Given the description of an element on the screen output the (x, y) to click on. 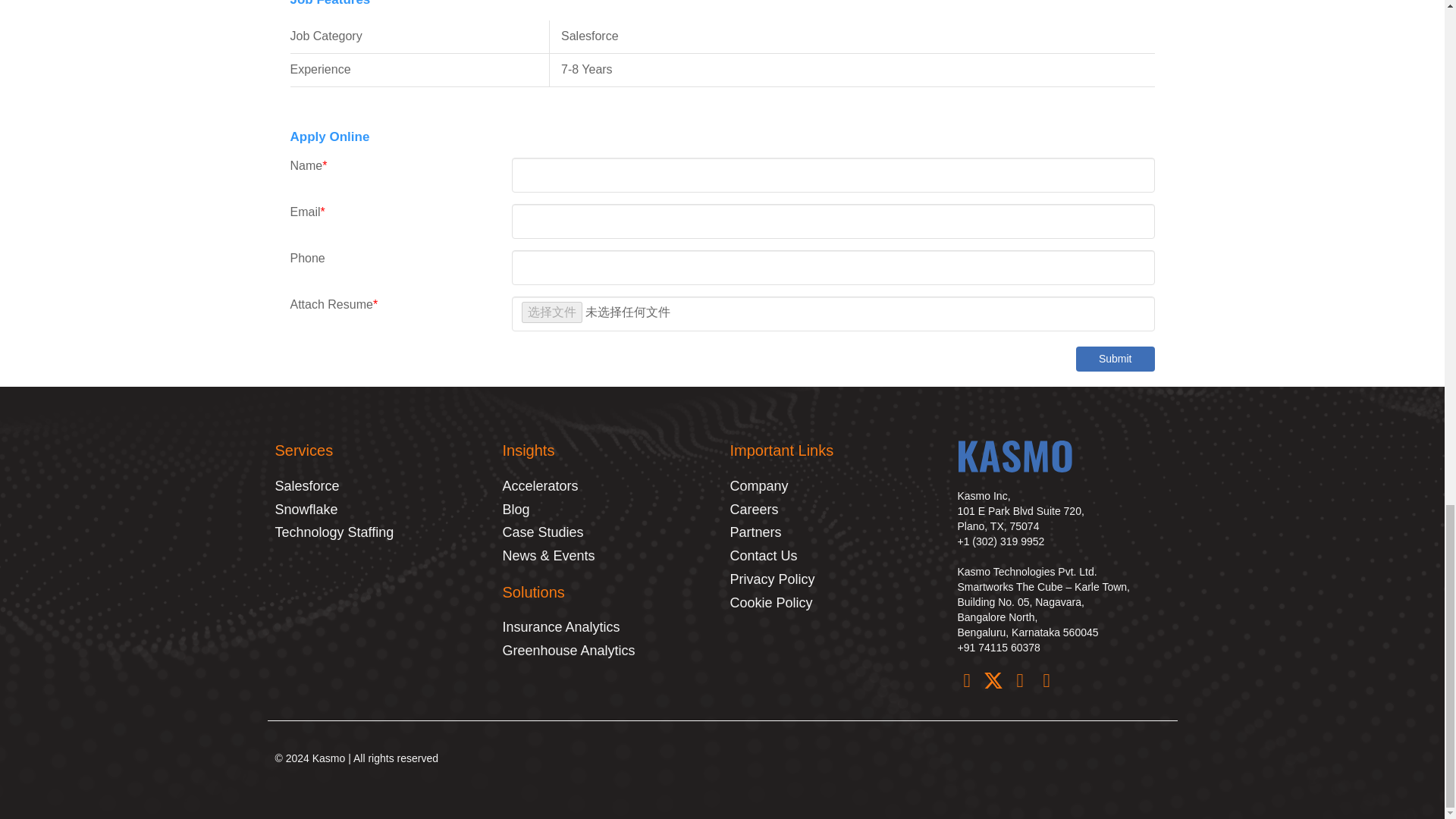
Privacy Policy (835, 579)
Technology Staffing (380, 532)
Cookie Policy (835, 603)
Salesforce (380, 486)
Careers (835, 510)
Blog (608, 510)
Snowflake (380, 510)
Solutions (533, 591)
Greenhouse Analytics (608, 650)
Company (835, 486)
